Given the description of an element on the screen output the (x, y) to click on. 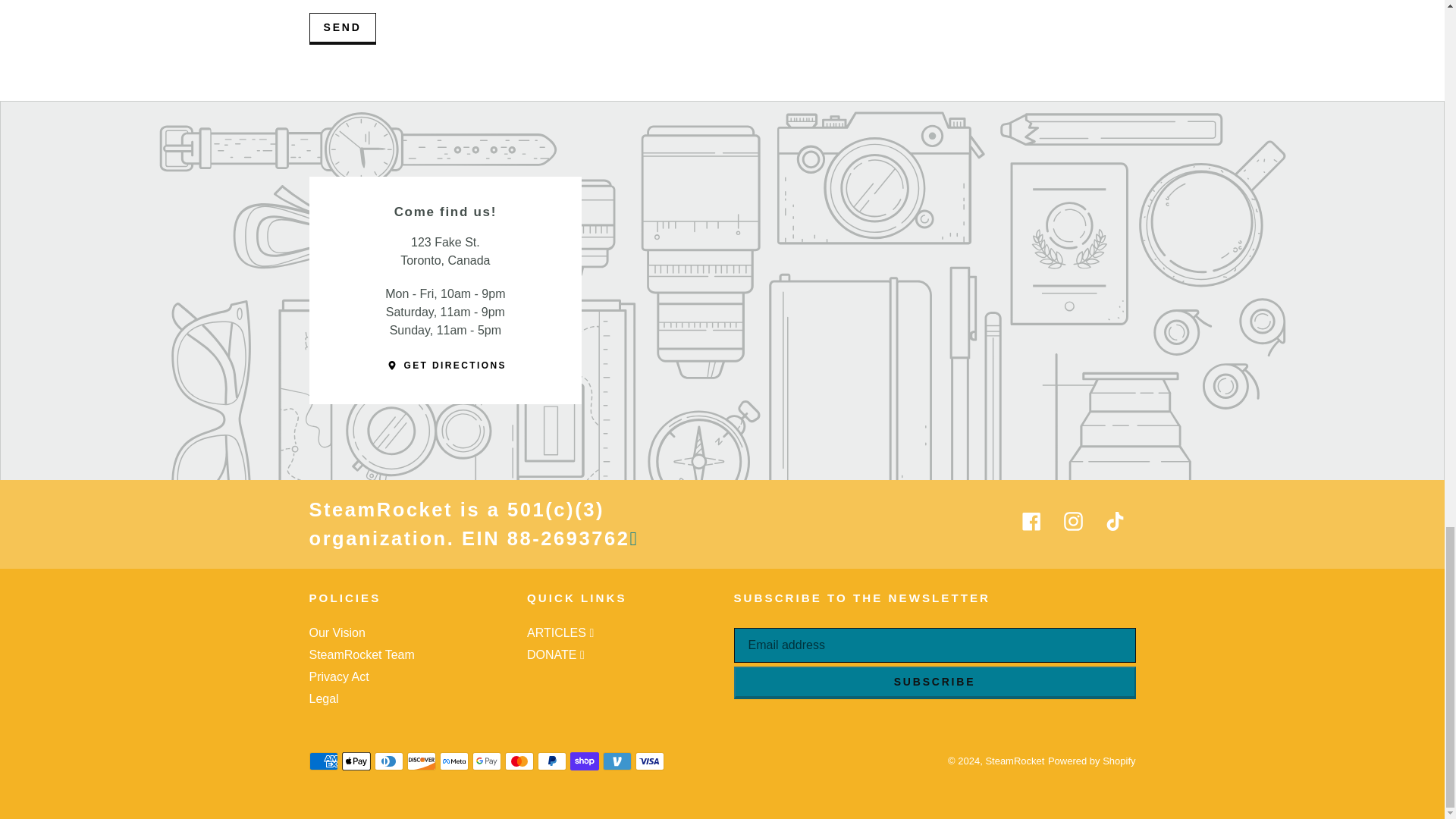
Instagram (1071, 520)
SteamRocket Team (361, 654)
Send (341, 29)
Powered by Shopify (1091, 760)
Our Vision (336, 632)
SUBSCRIBE (934, 682)
Facebook (1031, 520)
Send (341, 29)
SteamRocket (1014, 760)
Tiktok (1114, 520)
